Given the description of an element on the screen output the (x, y) to click on. 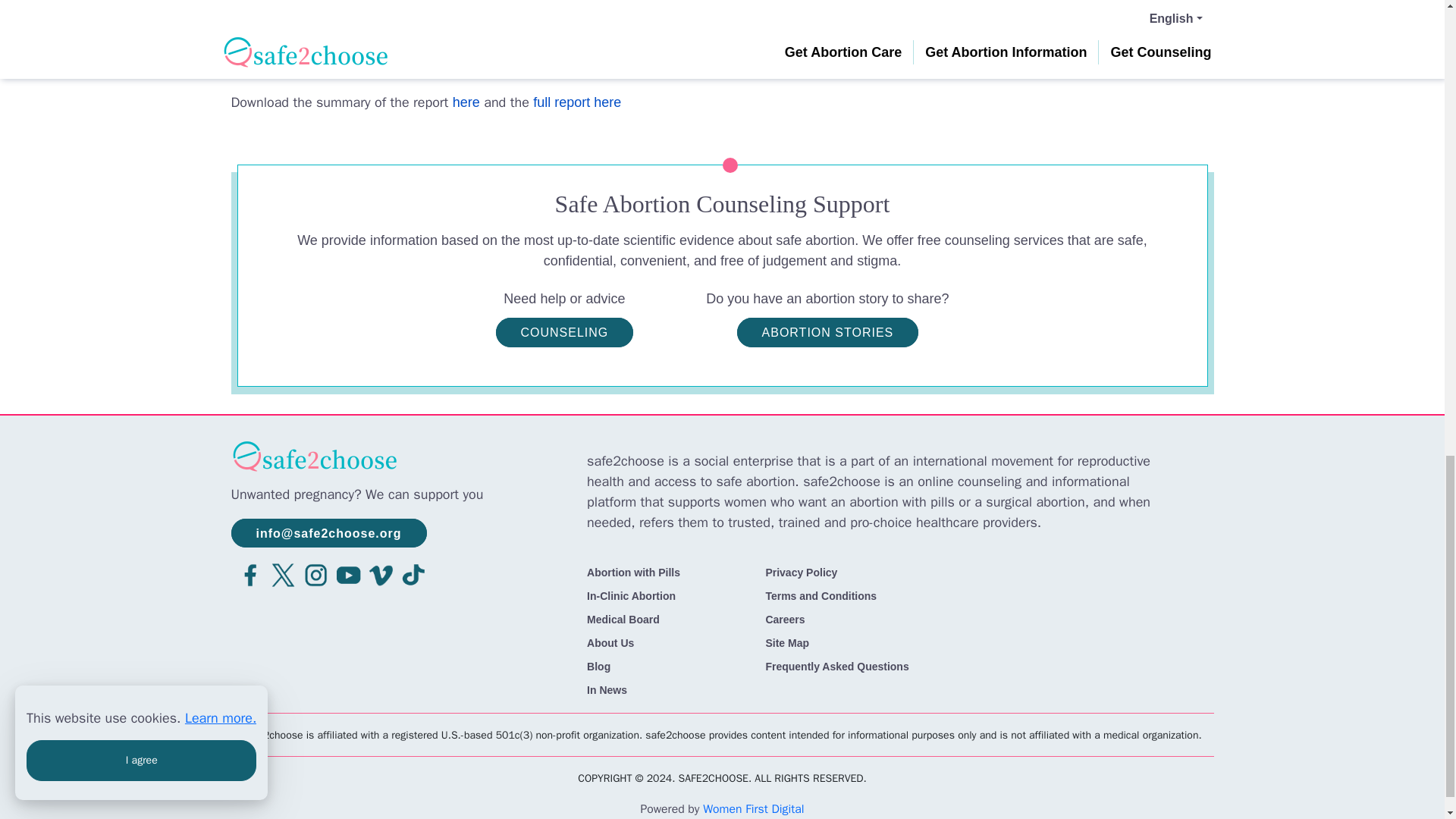
In-Clinic Abortion (630, 595)
Frequently Asked Questions (836, 666)
Site Map (787, 643)
Click to go to safe2choose Twitter account (280, 573)
Click to go to safe2choose Vimeo account (377, 573)
full report here (576, 102)
Privacy Policy (801, 572)
Medical Board (622, 619)
Abortion with Pills (632, 572)
Terms and Conditions (820, 595)
